Given the description of an element on the screen output the (x, y) to click on. 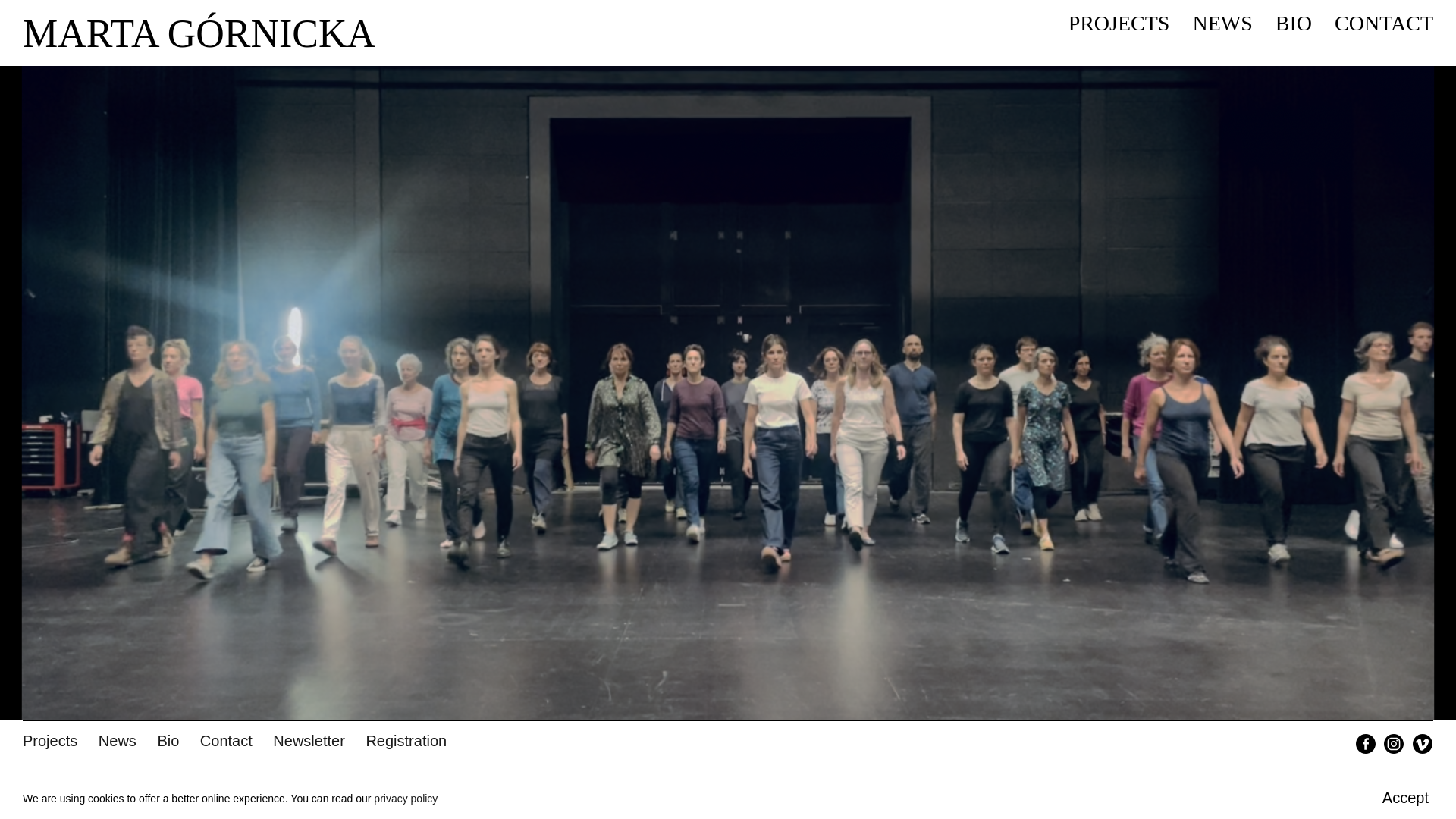
privacy policy (406, 410)
Registration (405, 740)
Contact (225, 740)
Projects (50, 740)
Bio (168, 740)
Type2 (1375, 787)
Newsletter (308, 740)
Accept (1404, 409)
News (117, 740)
